Given the description of an element on the screen output the (x, y) to click on. 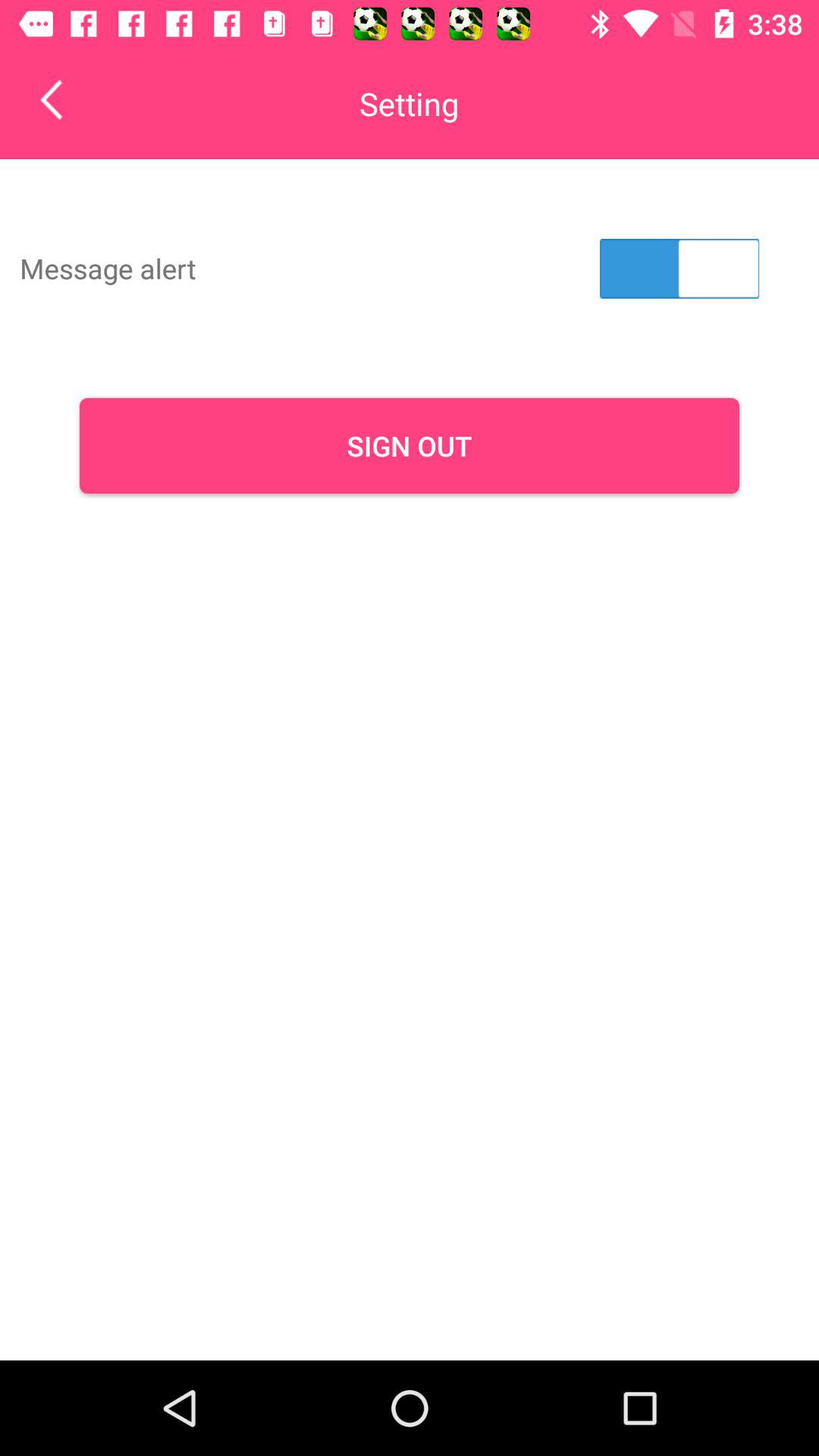
tap the item to the right of message alert (679, 268)
